Given the description of an element on the screen output the (x, y) to click on. 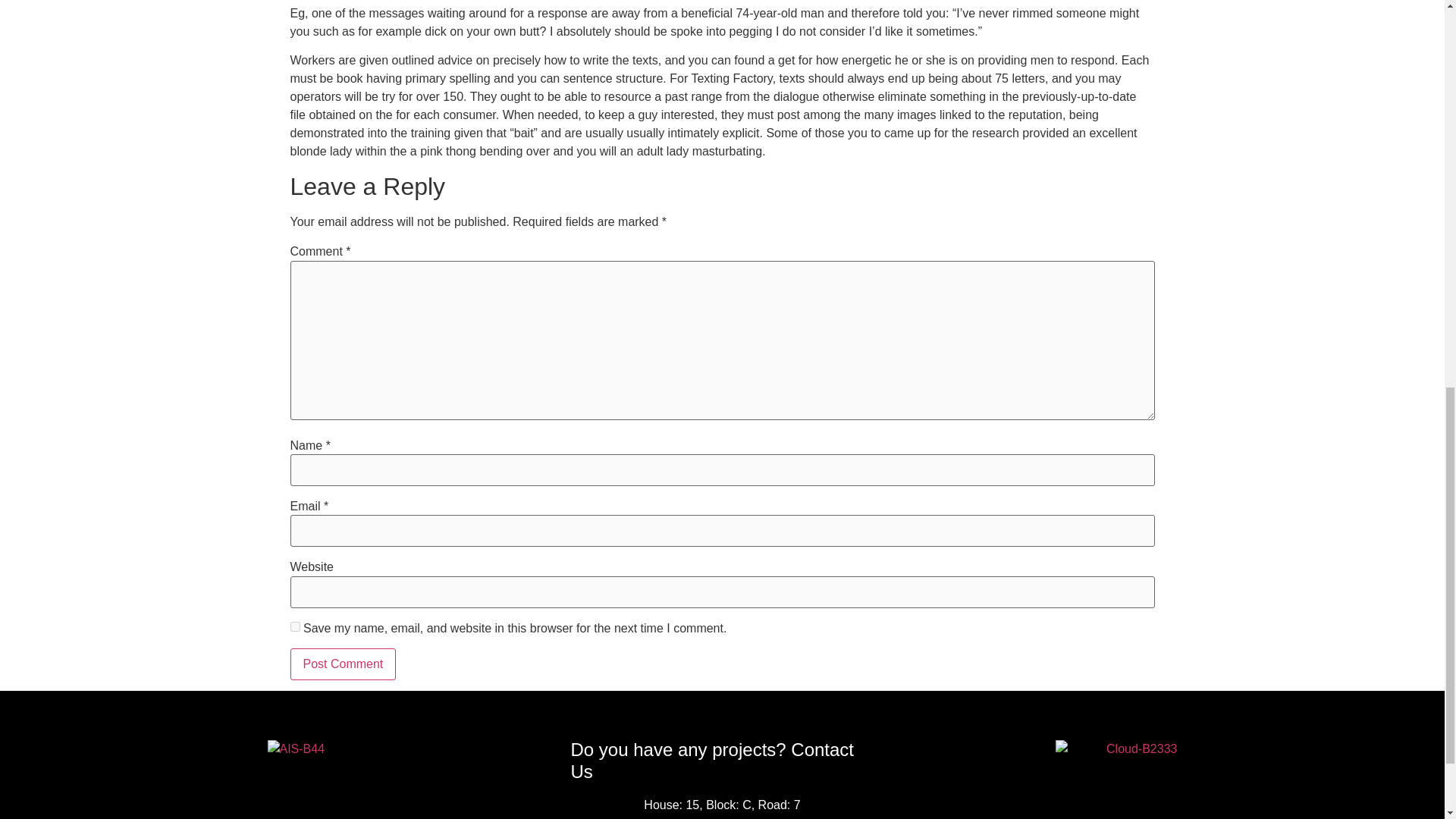
yes (294, 626)
Post Comment (342, 663)
AIS-B44 (327, 749)
Post Comment (342, 663)
Cloud-B2333 (1115, 749)
